Given the description of an element on the screen output the (x, y) to click on. 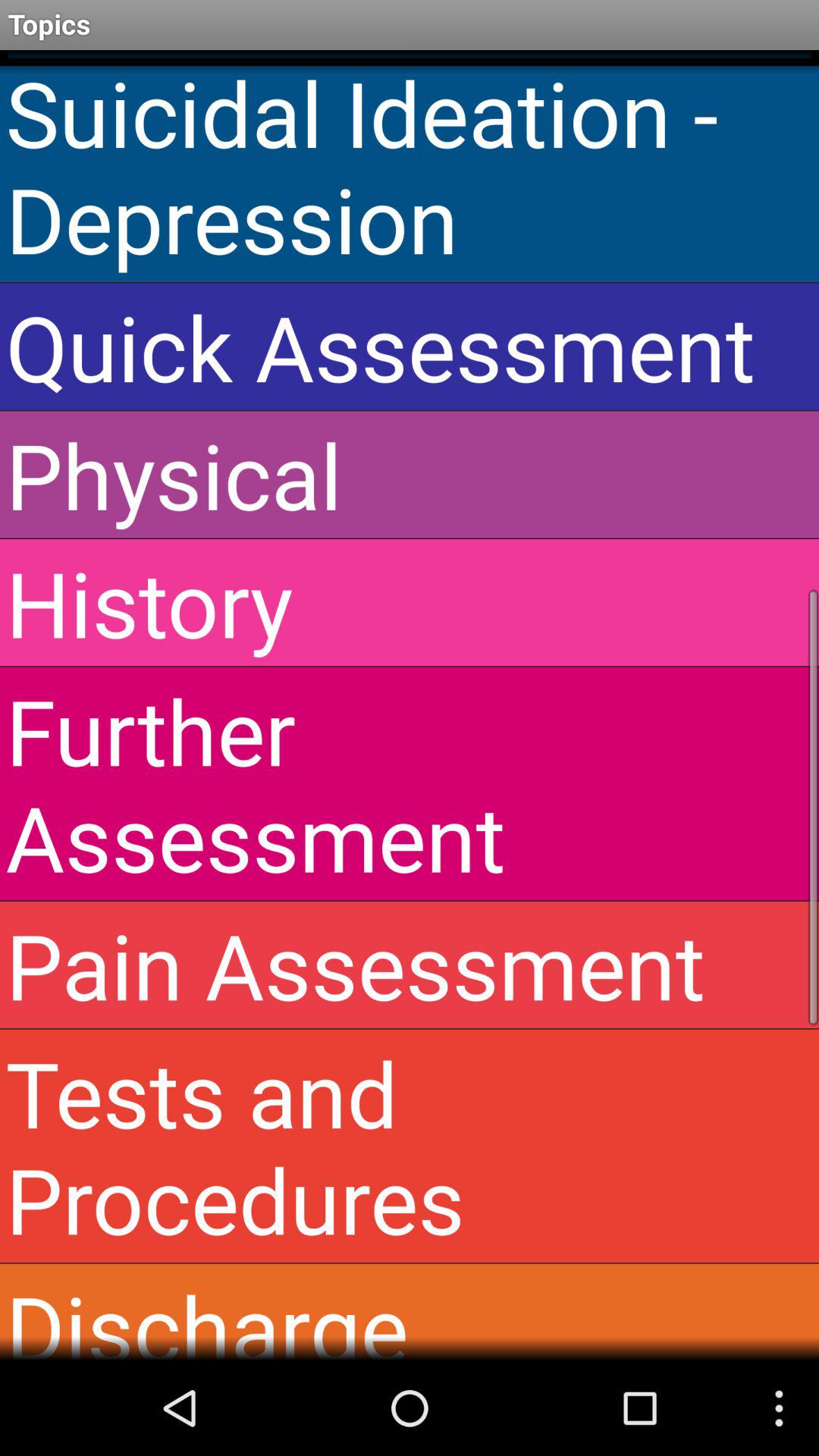
tap item above further assessment icon (409, 602)
